Given the description of an element on the screen output the (x, y) to click on. 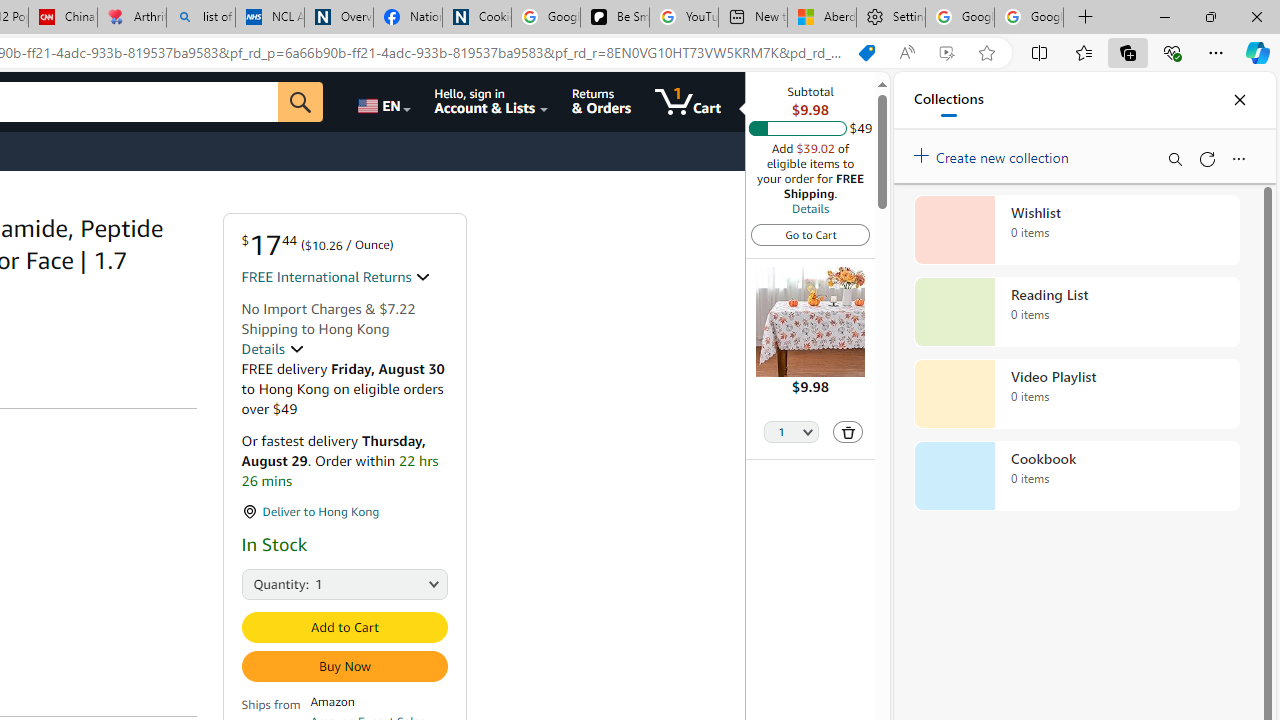
Add this page to favorites (Ctrl+D) (986, 53)
Choose a language for shopping. (382, 101)
Restore (1210, 16)
Refresh (1206, 158)
Quantity: (263, 582)
Close (1239, 99)
Shopping in Microsoft Edge (867, 53)
Returns & Orders (601, 101)
New Tab (1085, 17)
Details  (272, 349)
FREE International Returns  (336, 277)
Aberdeen, Hong Kong SAR hourly forecast | Microsoft Weather (822, 17)
Details (810, 208)
